Given the description of an element on the screen output the (x, y) to click on. 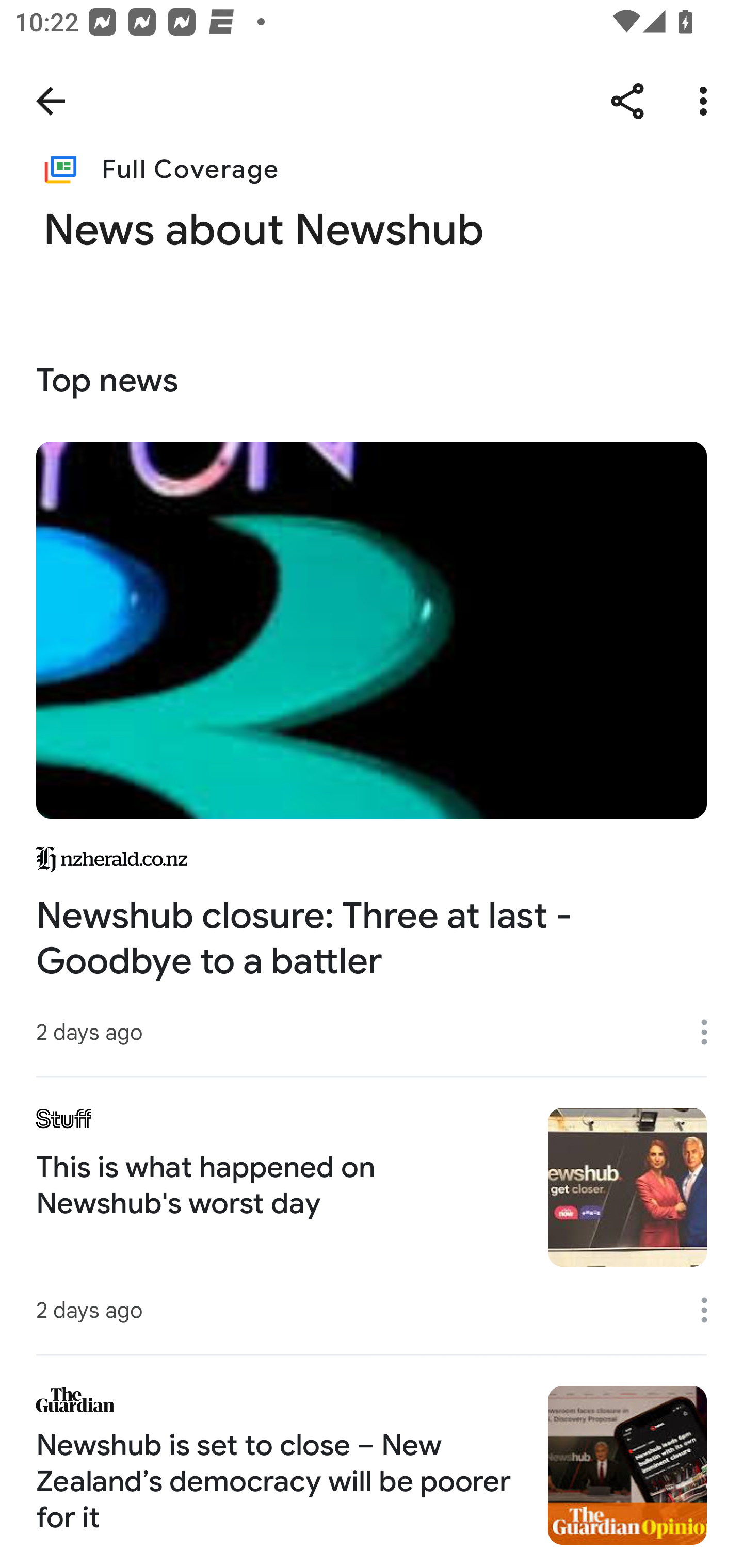
Navigate up (50, 101)
Share (626, 101)
More options (706, 101)
More options (711, 1032)
More options (711, 1309)
